Given the description of an element on the screen output the (x, y) to click on. 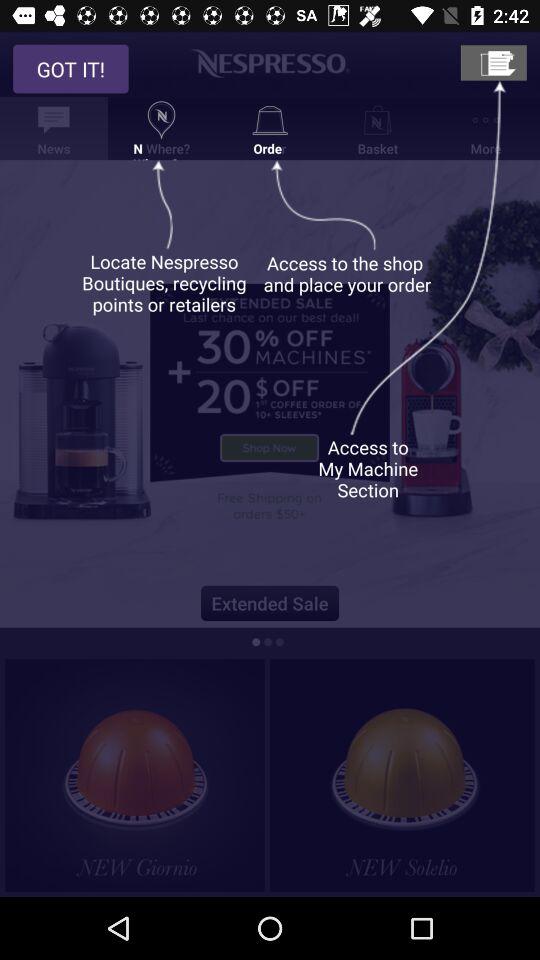
view this product (402, 775)
